Given the description of an element on the screen output the (x, y) to click on. 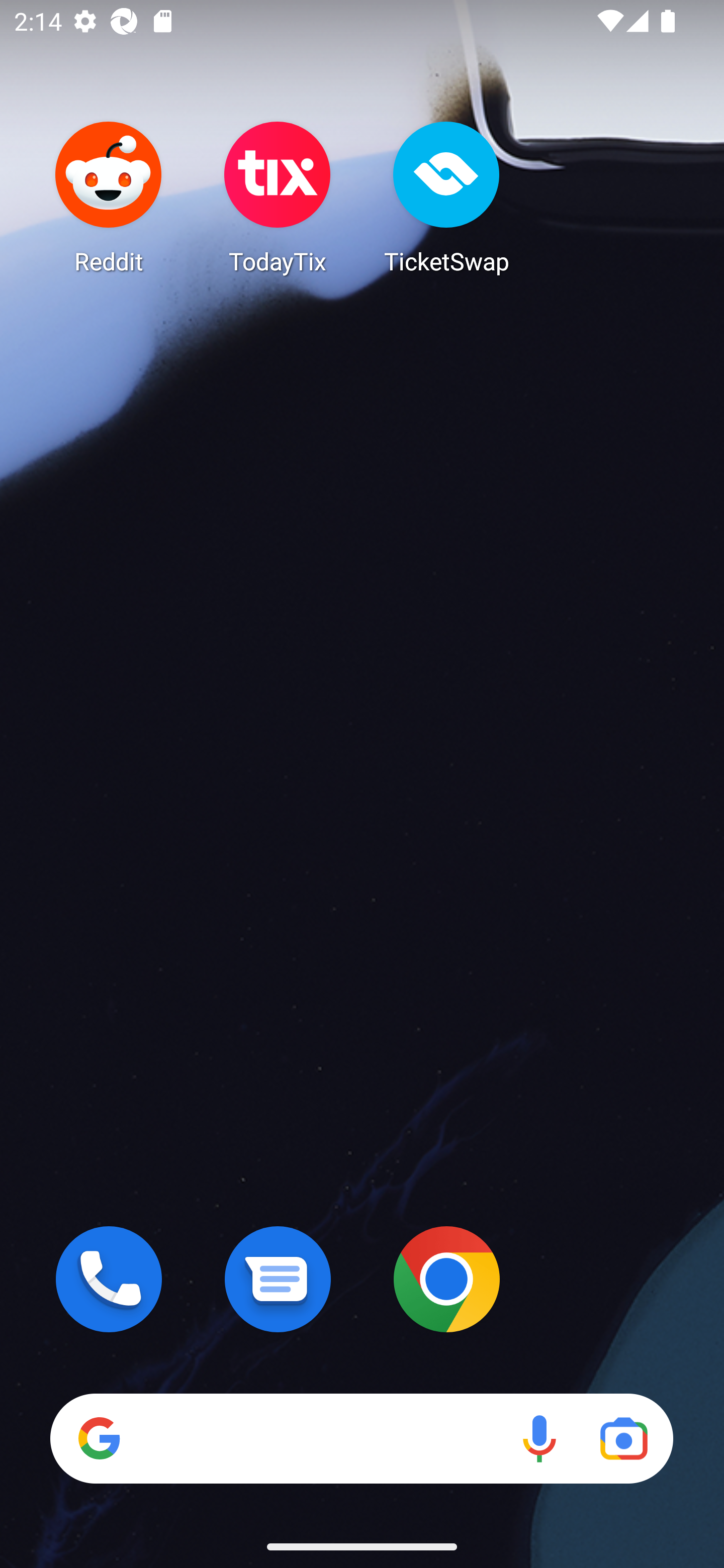
Reddit (108, 196)
TodayTix (277, 196)
TicketSwap (445, 196)
Phone (108, 1279)
Messages (277, 1279)
Chrome (446, 1279)
Voice search (539, 1438)
Google Lens (623, 1438)
